Given the description of an element on the screen output the (x, y) to click on. 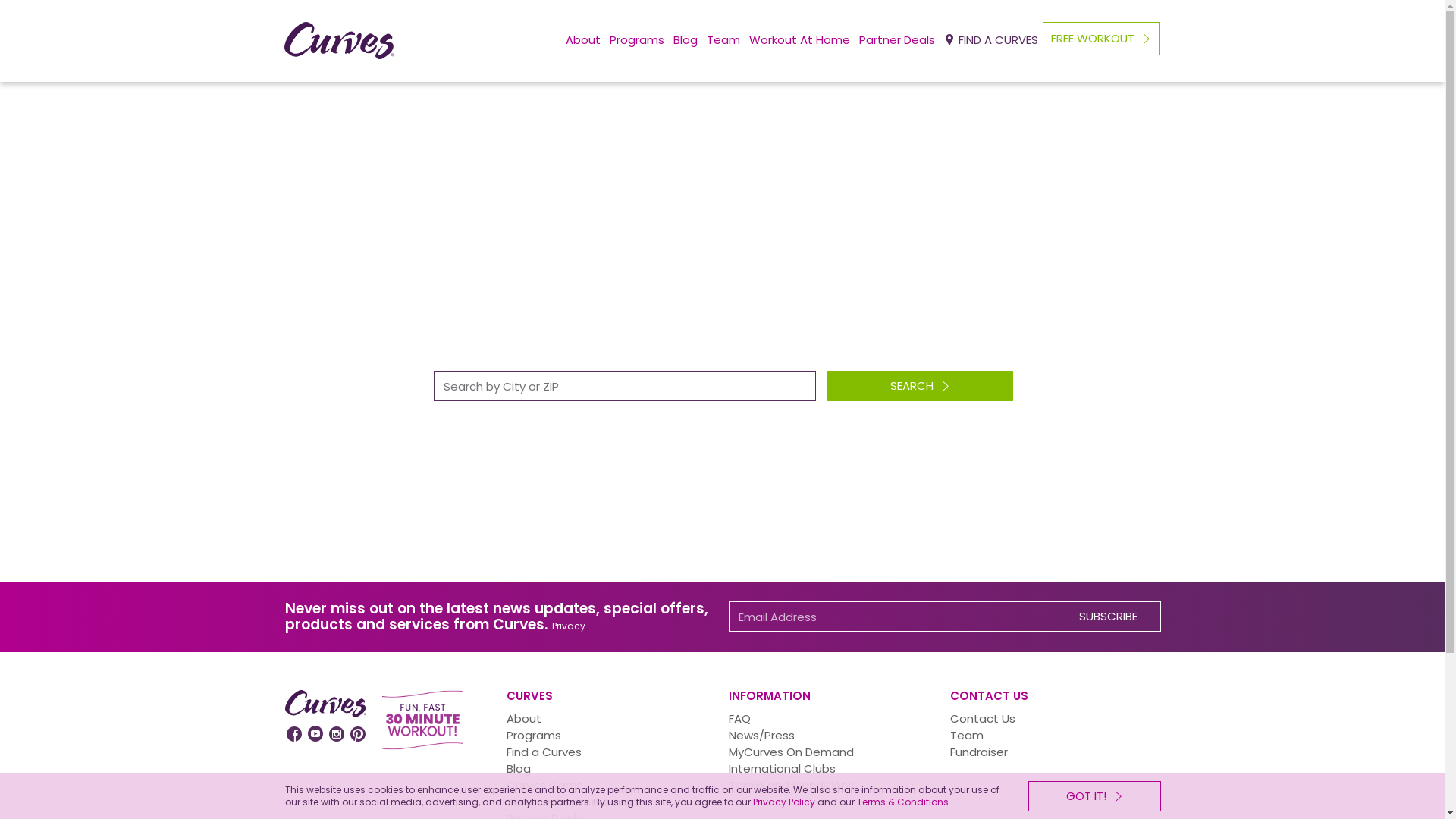
Programs Element type: text (533, 735)
SUBSCRIBE Element type: text (1108, 616)
Find a Curves Element type: text (543, 751)
SEARCH Element type: text (920, 385)
Privacy Element type: text (568, 625)
Fundraiser Element type: text (978, 751)
Science Advisory Board Element type: text (571, 801)
Privacy Policy Element type: text (783, 801)
Terms & Conditions Element type: text (902, 801)
Terms and Conditions Element type: text (790, 785)
Blog Element type: text (518, 768)
GOT IT! Element type: text (1094, 796)
About Element type: text (523, 718)
Curves Cares Element type: text (544, 785)
FREE WORKOUT Element type: text (1100, 38)
News/Press Element type: text (760, 735)
Team Element type: text (966, 735)
International Clubs Element type: text (781, 768)
Contact Us Element type: text (982, 718)
MyCurves On Demand Element type: text (790, 751)
FAQ Element type: text (738, 718)
Home Element type: text (684, 266)
